Given the description of an element on the screen output the (x, y) to click on. 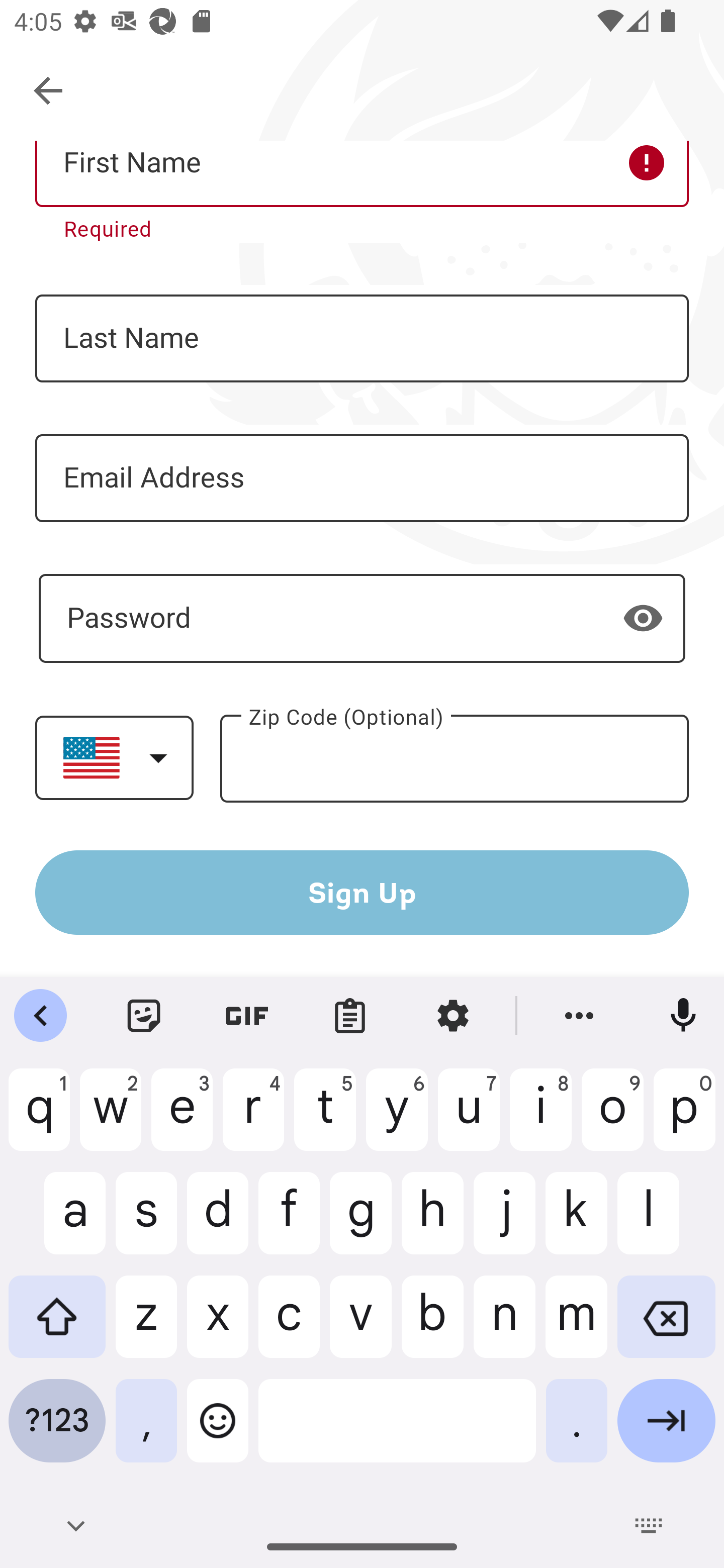
Navigate up (49, 91)
First Name - Required (361, 173)
Last Name - Required (361, 338)
Email Address - Required (361, 478)
- Required (361, 618)
Show password (642, 617)
Zip Code – Optional (454, 758)
Select a country. United States selected. (114, 757)
Sign Up (361, 891)
